Given the description of an element on the screen output the (x, y) to click on. 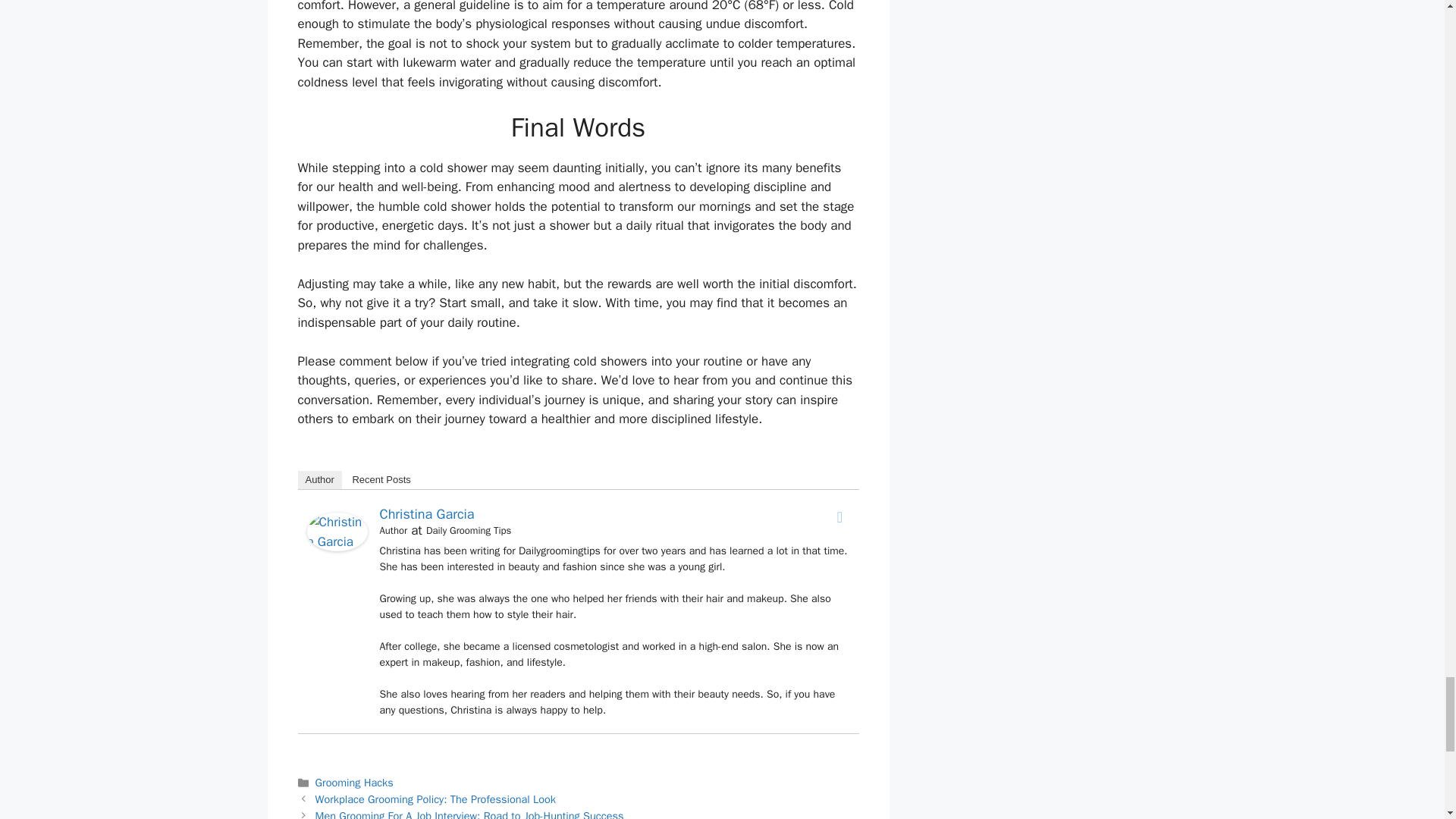
Twitter (839, 516)
Christina Garcia (426, 514)
Recent Posts (380, 479)
Author (318, 479)
Grooming Hacks (354, 782)
Workplace Grooming Policy: The Professional Look (435, 798)
Christina Garcia (335, 546)
